Given the description of an element on the screen output the (x, y) to click on. 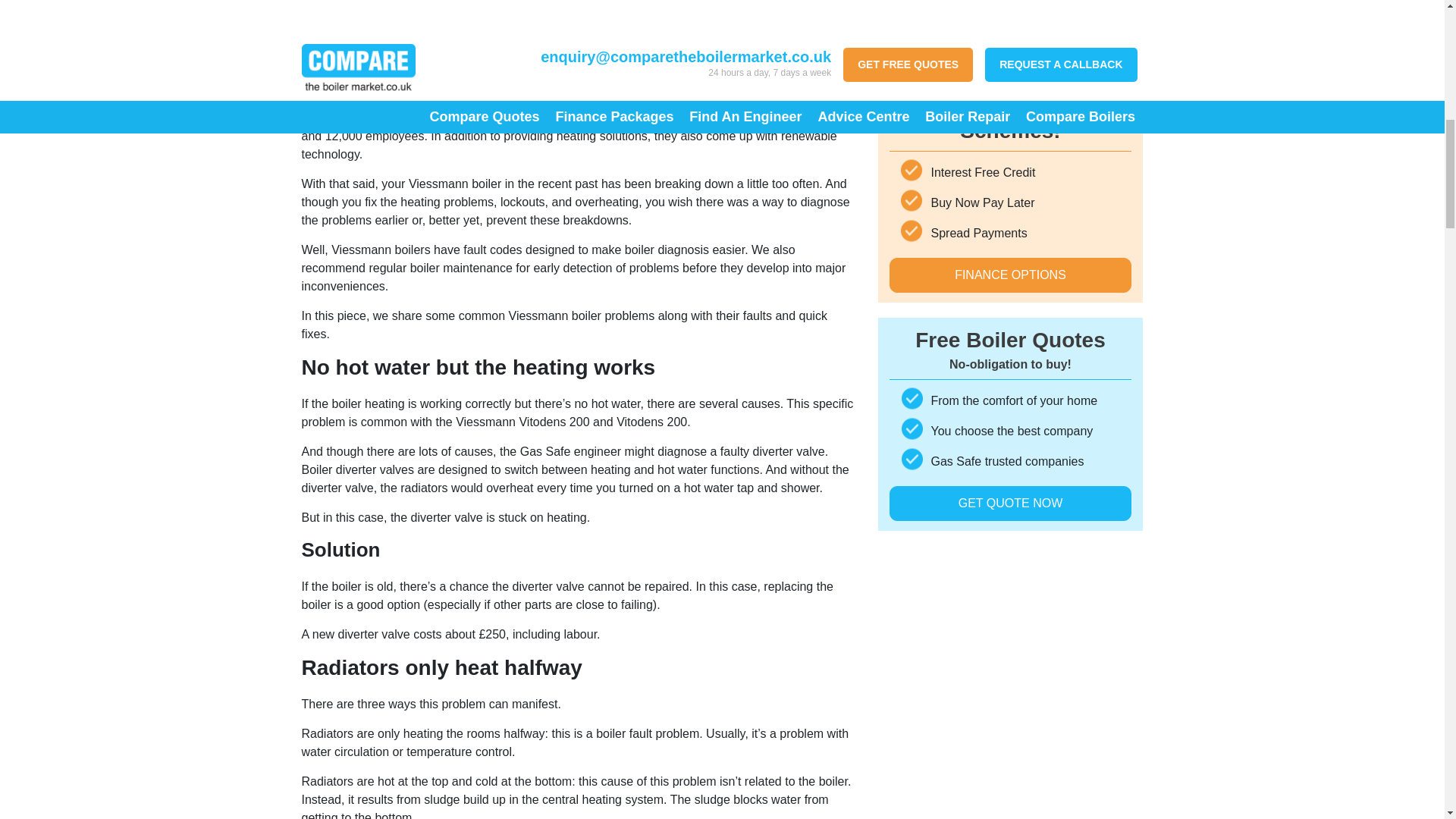
show (381, 61)
GET QUOTE NOW (1009, 102)
